Given the description of an element on the screen output the (x, y) to click on. 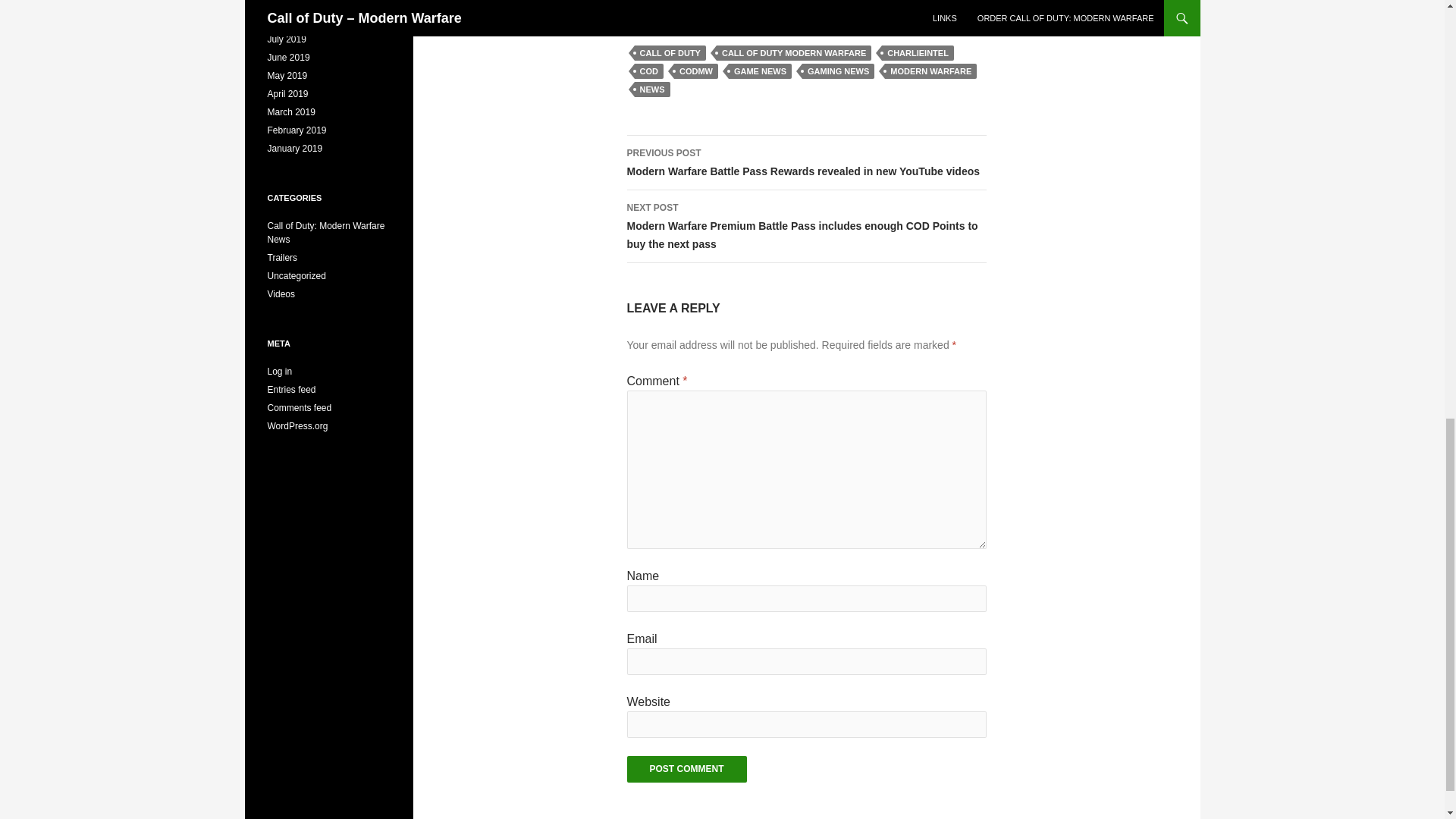
GAME NEWS (760, 70)
CallofDuty.com (811, 2)
Post Comment (685, 768)
CHARLIEINTEL (917, 52)
Post Comment (685, 768)
GAMING NEWS (838, 70)
CALL OF DUTY MODERN WARFARE (793, 52)
NEWS (651, 89)
CALL OF DUTY (668, 52)
